Given the description of an element on the screen output the (x, y) to click on. 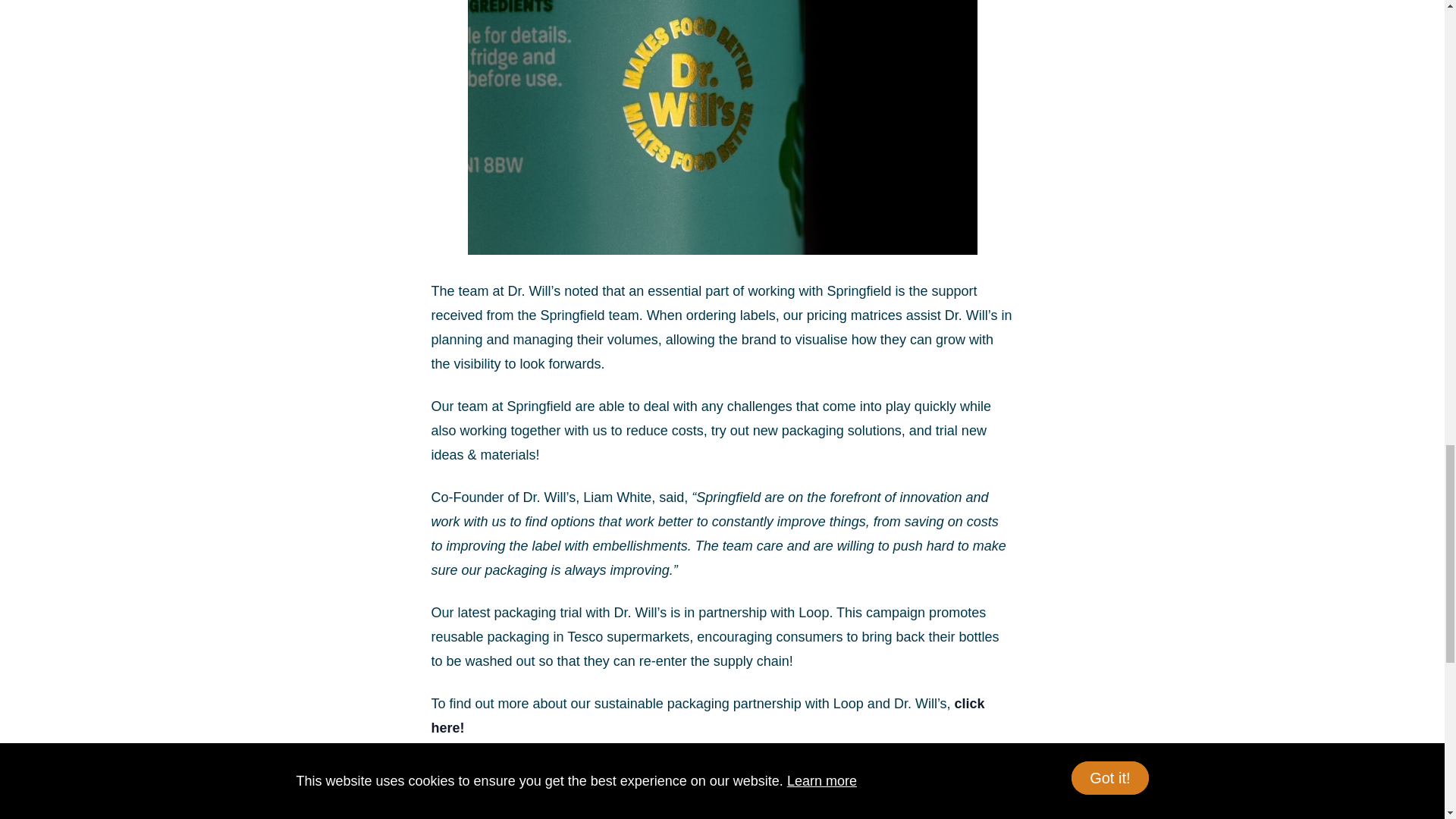
INSIGHTS (347, 811)
click here! (707, 715)
